Given the description of an element on the screen output the (x, y) to click on. 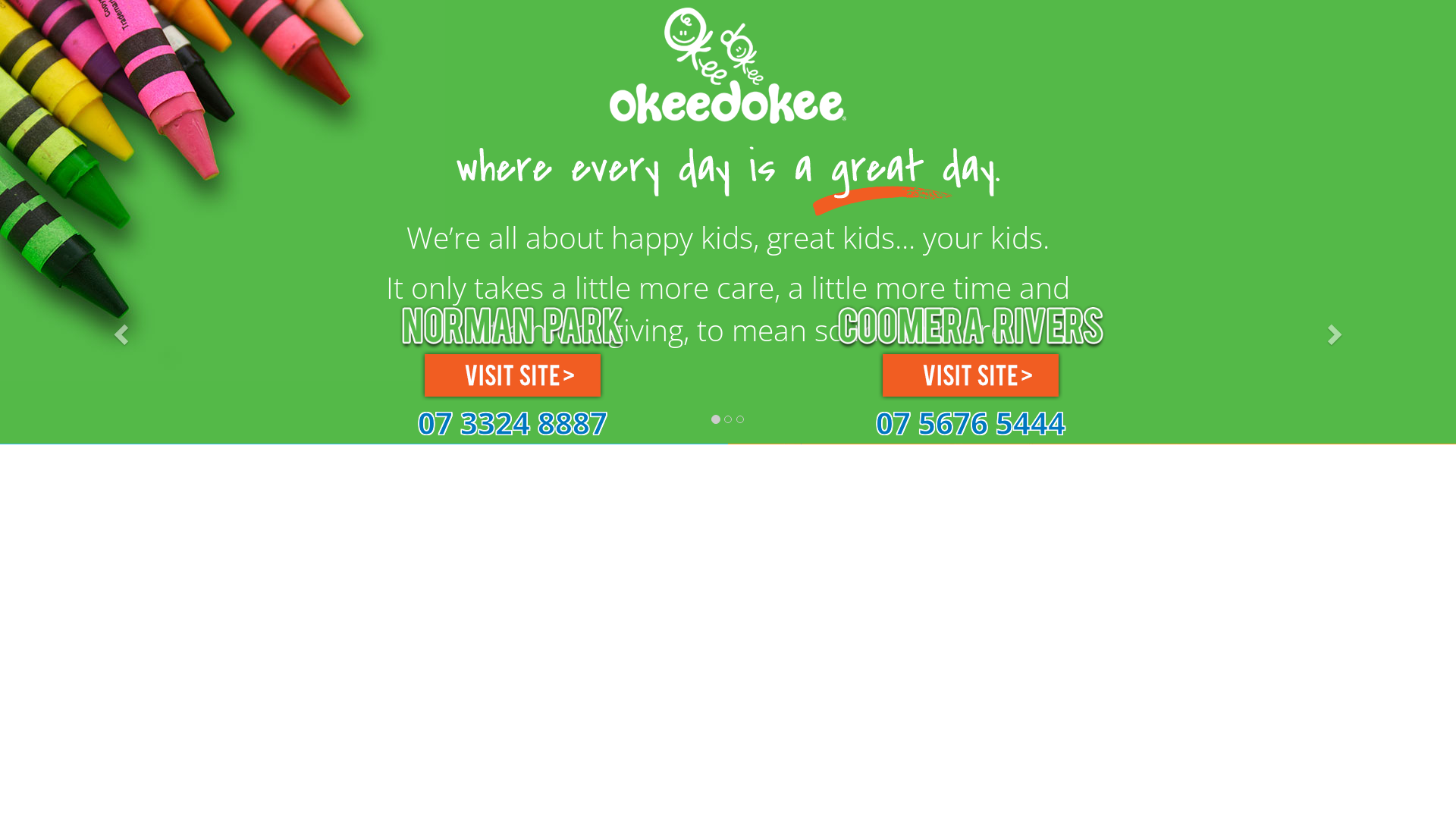
Next Element type: text (1337, 329)
Previous Element type: text (118, 329)
07 3324 8887 Element type: text (512, 429)
07 5676 5444 Element type: text (970, 429)
